Given the description of an element on the screen output the (x, y) to click on. 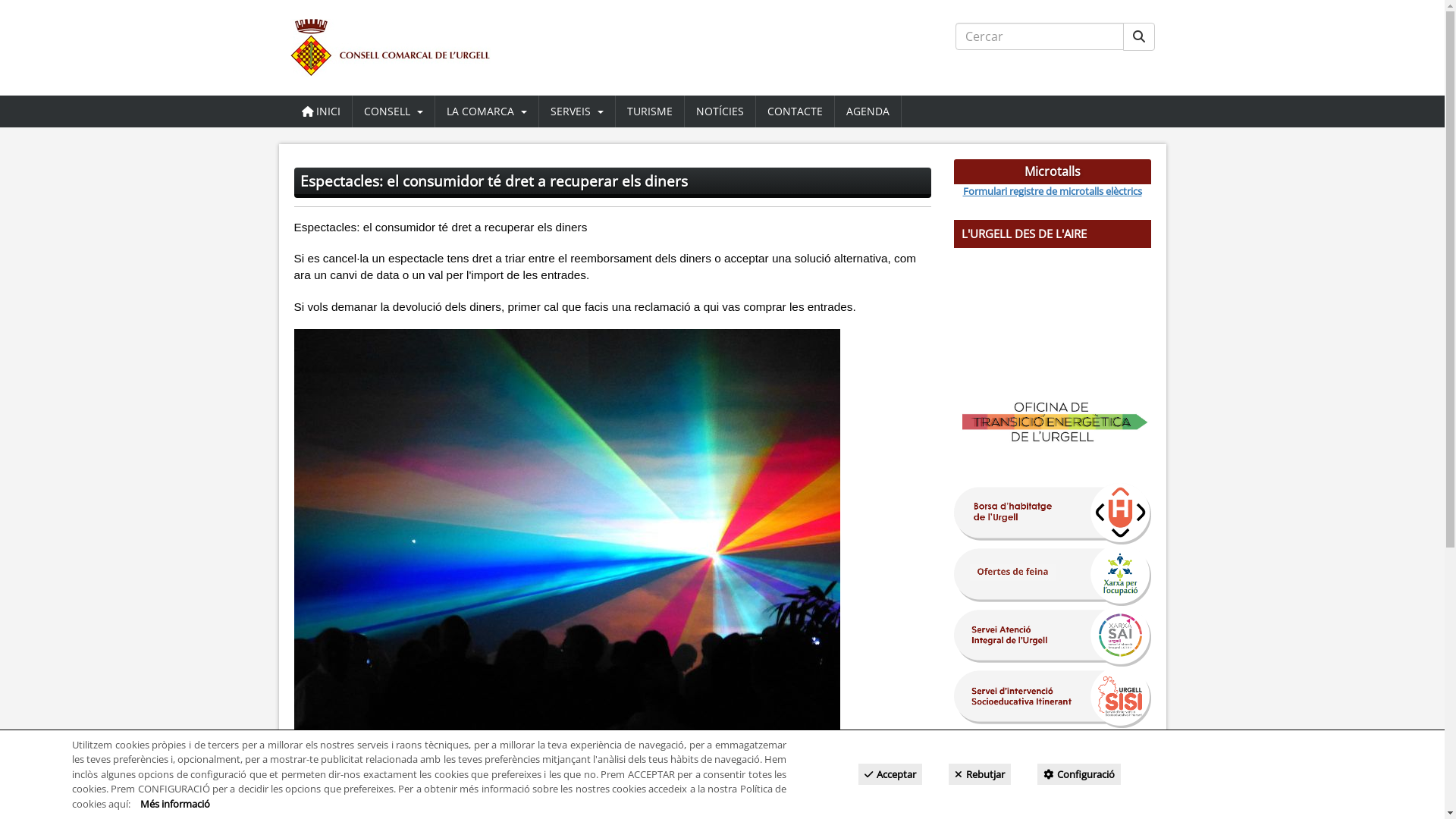
Rebutjar Element type: text (979, 773)
 #DretsConsumidors Element type: text (521, 761)
#urgell Element type: text (311, 761)
LA COMARCA Element type: text (486, 111)
Acceptar Element type: text (890, 773)
CONSELL Element type: text (392, 111)
 #ConsumActua Element type: text (426, 761)
AGENDA Element type: text (867, 111)
SERVEIS Element type: text (576, 111)
CONTACTE Element type: text (794, 111)
INICI Element type: text (320, 111)
Youtube Video Element type: hover (1052, 309)
TURISME Element type: text (649, 111)
 #consum Element type: text (357, 761)
